Given the description of an element on the screen output the (x, y) to click on. 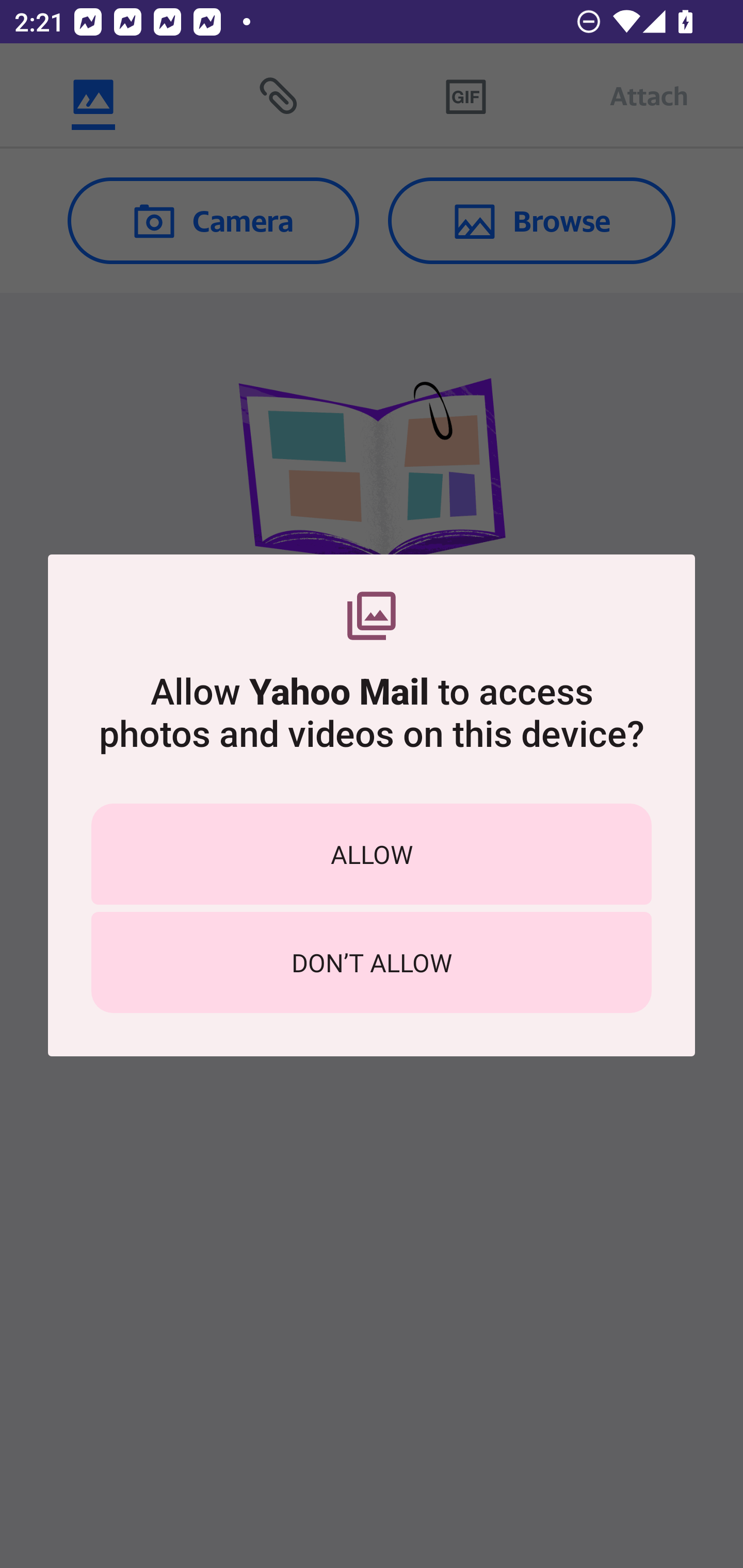
ALLOW (371, 853)
DON’T ALLOW (371, 962)
